Given the description of an element on the screen output the (x, y) to click on. 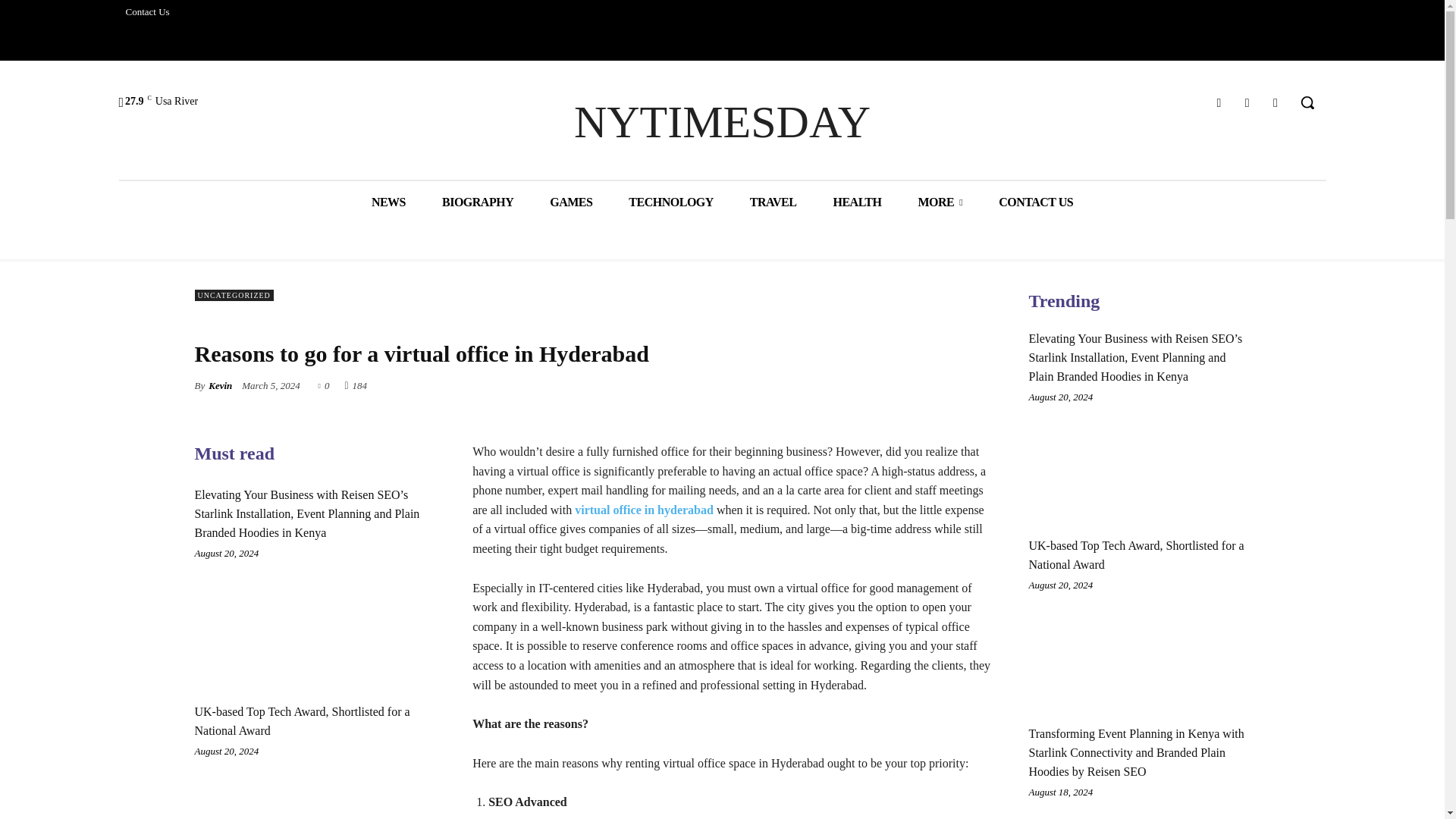
TRAVEL (773, 201)
HEALTH (856, 201)
NYTIMESDAY (721, 122)
MORE (939, 201)
BIOGRAPHY (477, 201)
NEWS (388, 201)
Contact Us (146, 12)
Twitter (1246, 102)
GAMES (570, 201)
CONTACT US (1034, 201)
